Given the description of an element on the screen output the (x, y) to click on. 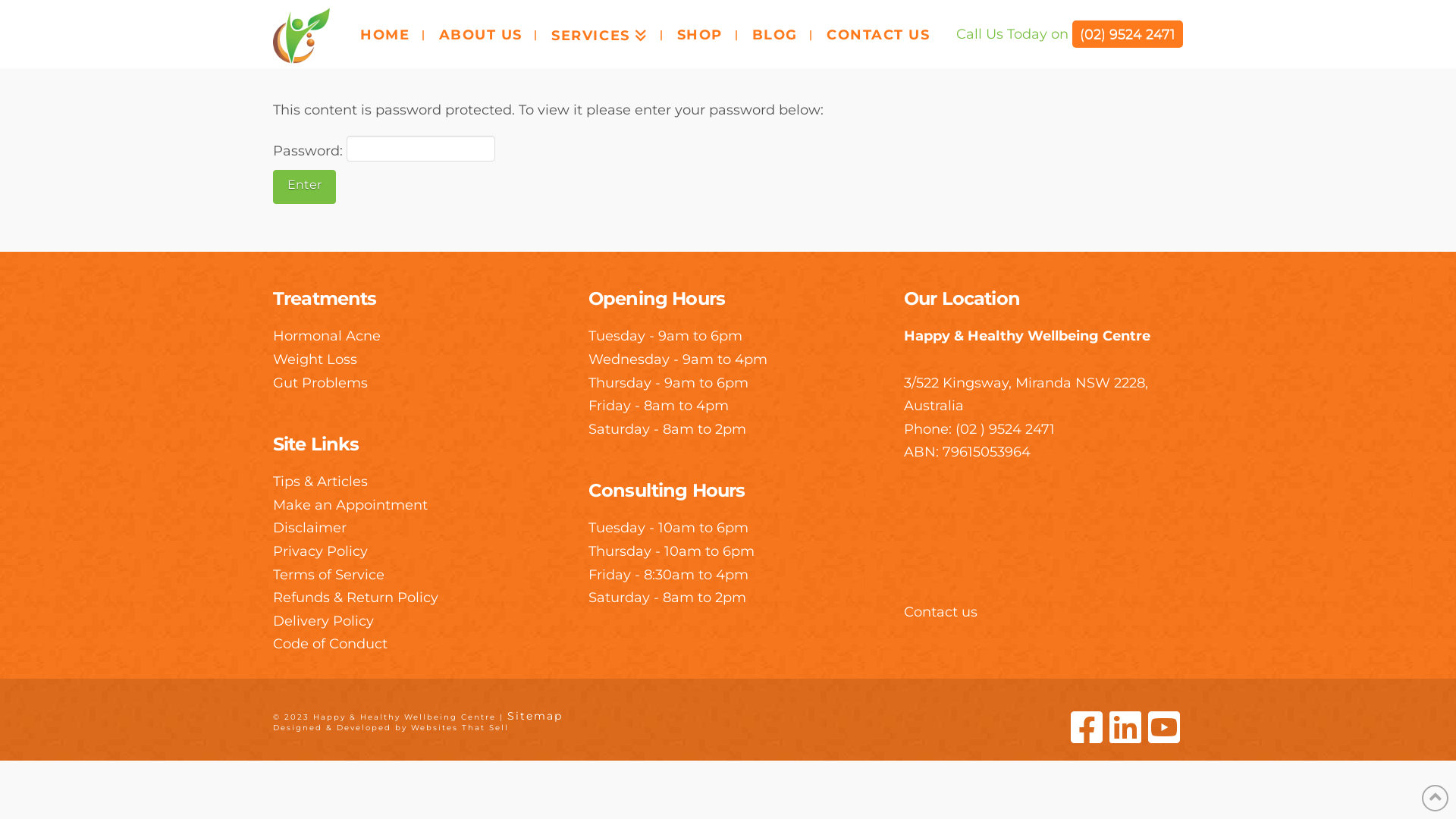
Gut Problems Element type: text (320, 382)
YouTube Element type: hover (1163, 727)
Sitemap Element type: text (534, 715)
(02) 9524 2471 Element type: text (1127, 33)
Terms of Service Element type: text (328, 574)
Make an Appointment Element type: text (350, 504)
Hormonal Acne Element type: text (326, 335)
Weight Loss Element type: text (315, 359)
Facebook Element type: hover (1086, 727)
Disclaimer Element type: text (309, 527)
BLOG Element type: text (774, 34)
Privacy Policy Element type: text (320, 550)
Happy & Healthy Wellbeing Centre Element type: text (1026, 335)
Code of Conduct Element type: text (330, 643)
CONTACT US Element type: text (877, 34)
Contact us Element type: text (940, 611)
Tips & Articles Element type: text (320, 481)
Refunds & Return Policy Element type: text (355, 597)
Back to Top Element type: hover (1434, 797)
Delivery Policy Element type: text (323, 620)
SERVICES Element type: text (599, 34)
Enter Element type: text (304, 186)
SHOP Element type: text (699, 34)
(02 ) 9524 2471 Element type: text (1004, 428)
ABOUT US Element type: text (479, 34)
LinkedIn Element type: hover (1124, 727)
HOME Element type: text (384, 34)
